Given the description of an element on the screen output the (x, y) to click on. 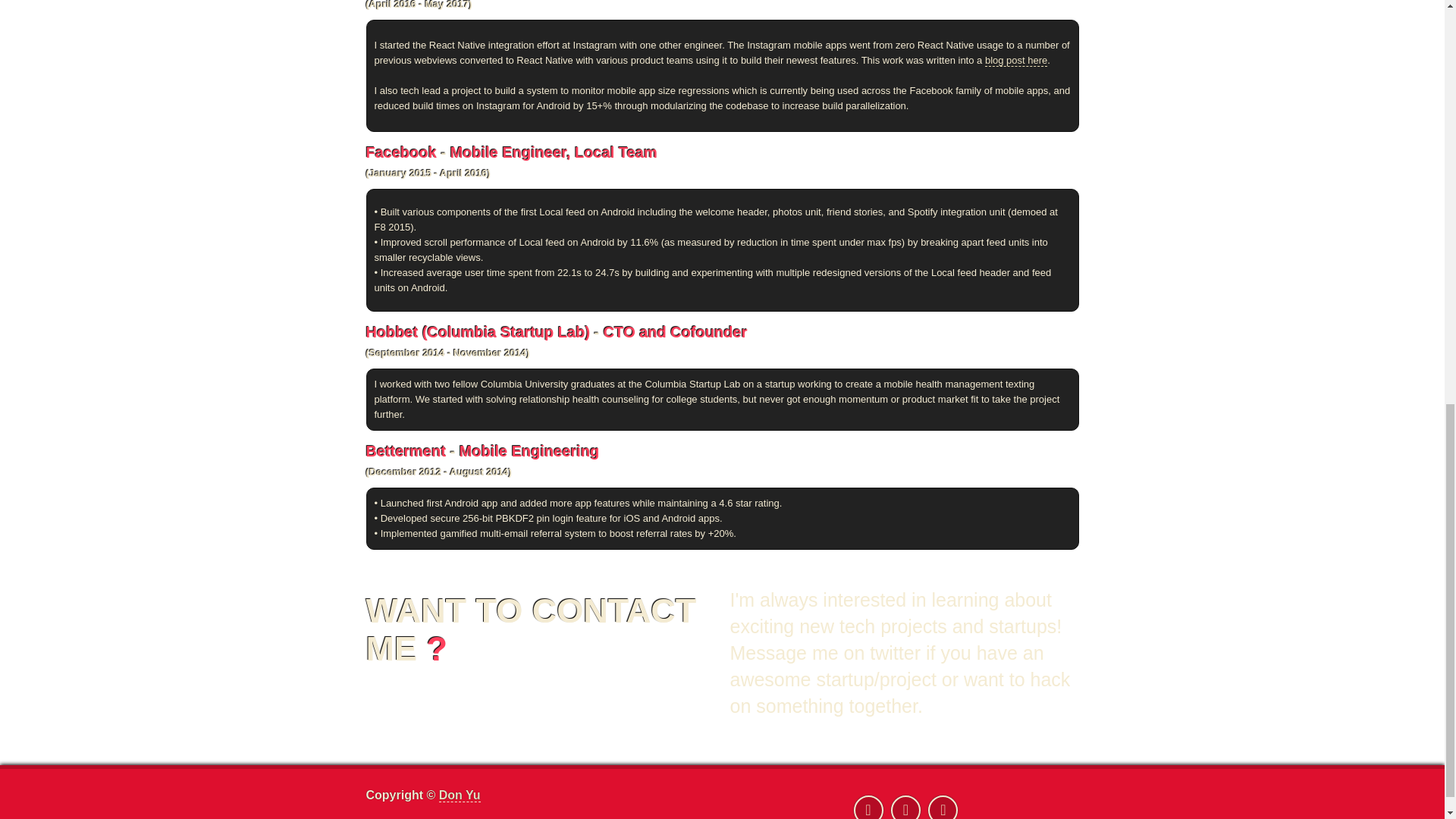
Don Yu (459, 795)
blog post here (1015, 60)
